Given the description of an element on the screen output the (x, y) to click on. 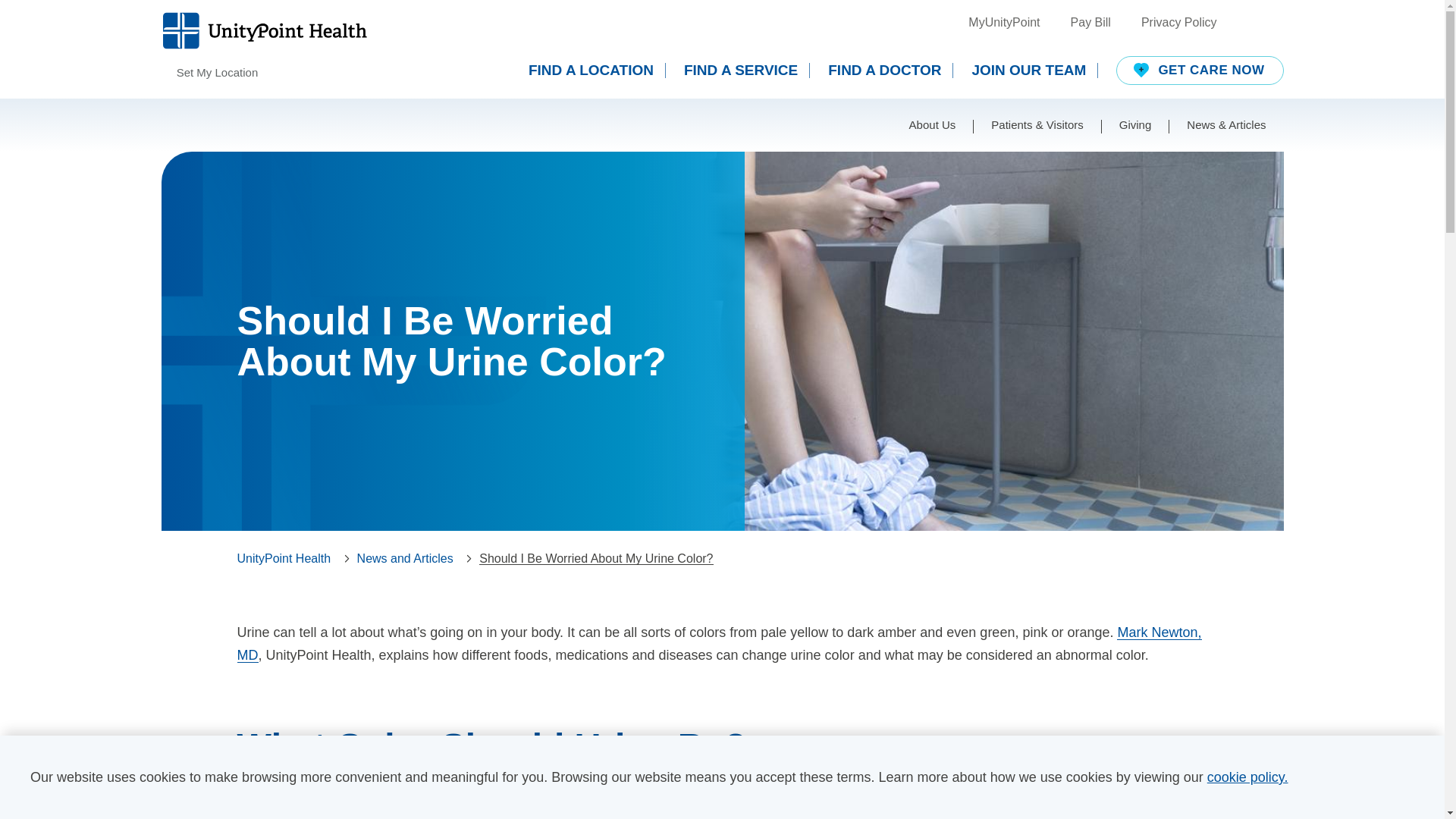
MyUnityPoint (1003, 22)
News and Articles (404, 558)
Set My Location (208, 72)
UnityPoint Health (282, 558)
Mark Newton, MD (718, 643)
FIND A DOCTOR (890, 69)
JOIN OUR TEAM (1034, 69)
Pay Bill (1090, 22)
cookie policy. (1247, 776)
GET CARE NOW (1199, 70)
